Given the description of an element on the screen output the (x, y) to click on. 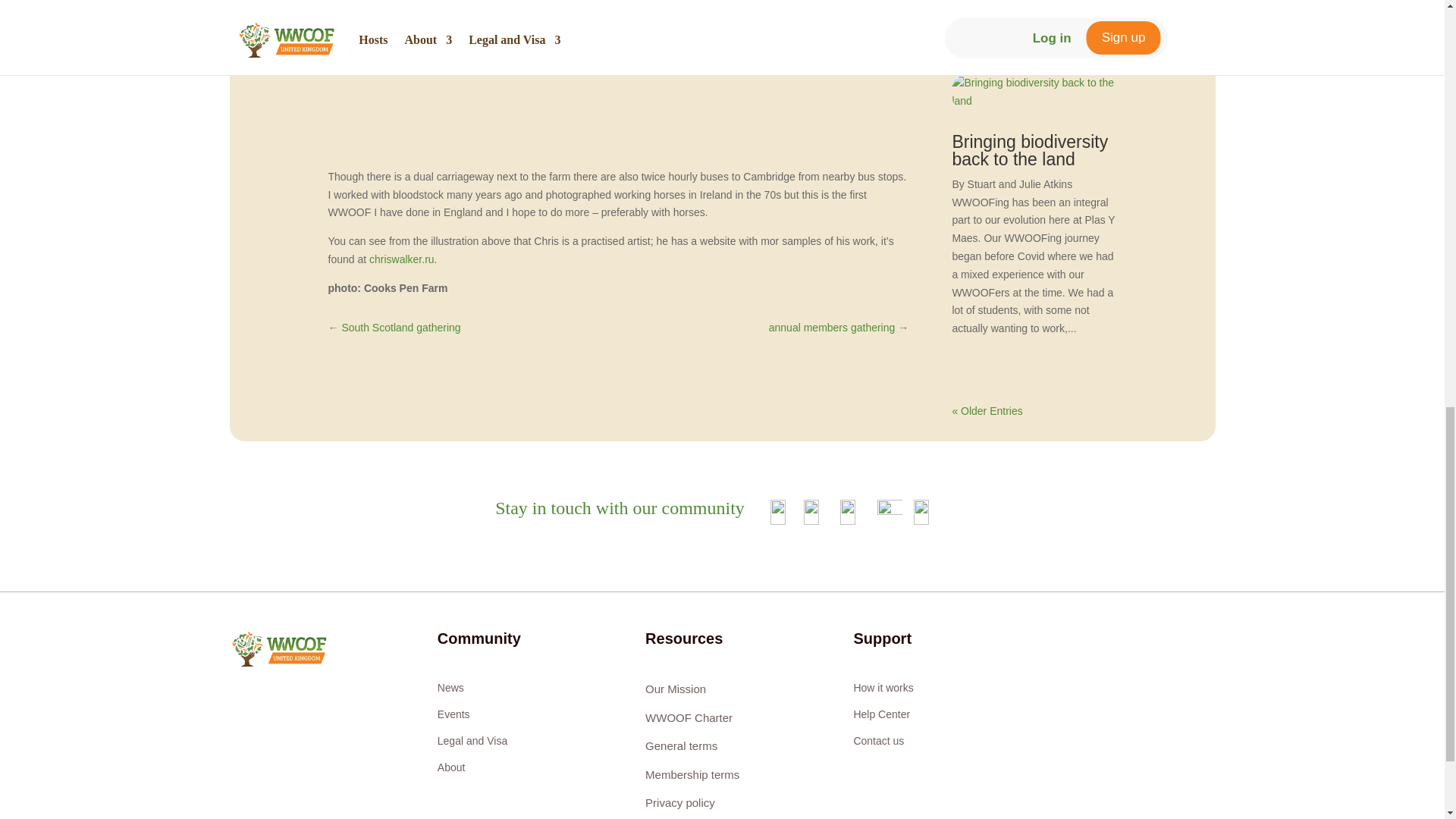
linkidin (925, 511)
About (451, 767)
youtube (851, 511)
News (451, 687)
Legal and Visa (472, 740)
WWOOF Charter (688, 717)
General terms (681, 745)
Bringing biodiversity back to the land (1030, 149)
Events (454, 714)
instagram (815, 511)
